Given the description of an element on the screen output the (x, y) to click on. 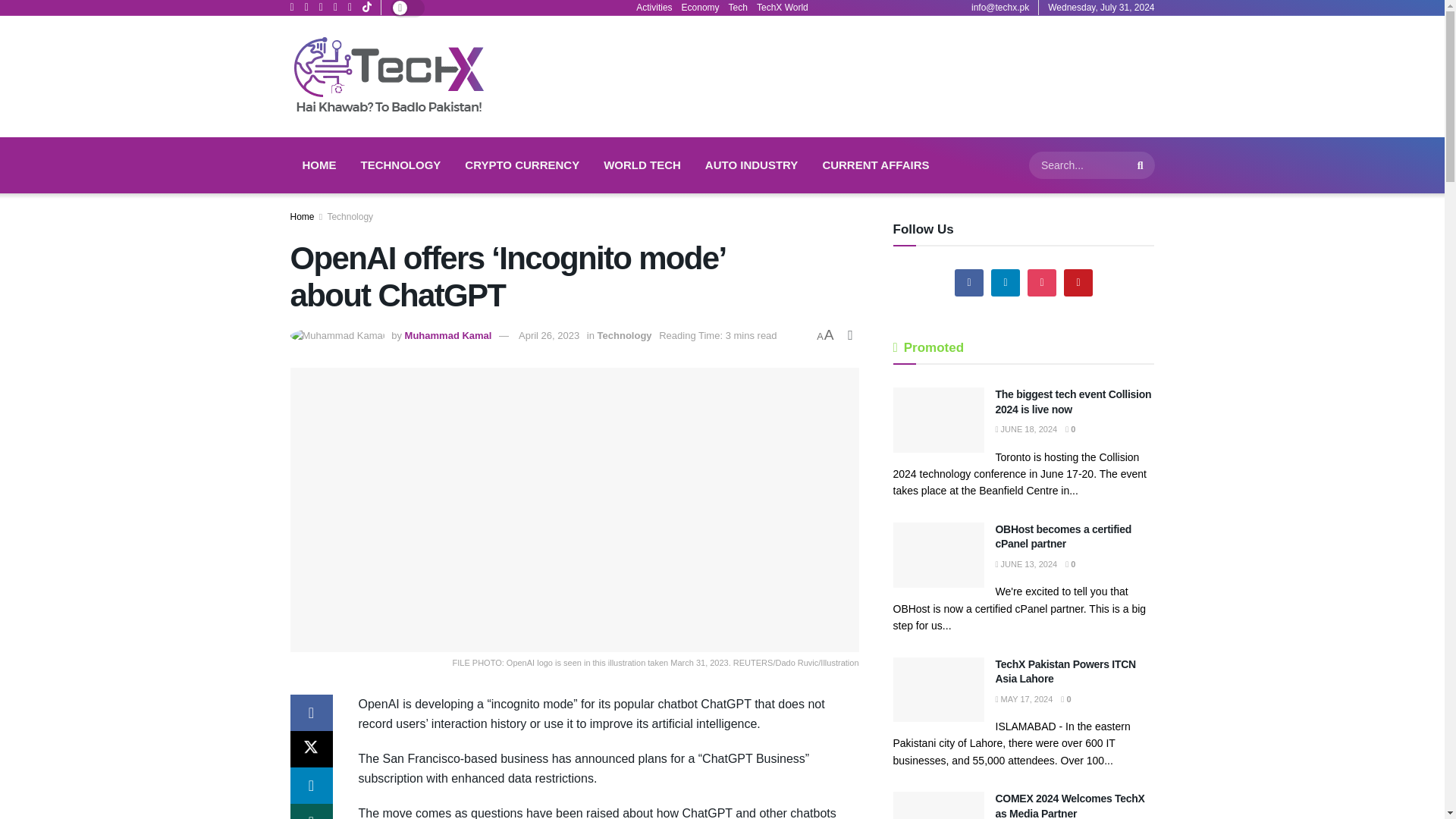
TechX World (782, 7)
CURRENT AFFAIRS (874, 165)
CRYPTO CURRENCY (521, 165)
AUTO INDUSTRY (751, 165)
TECHNOLOGY (400, 165)
WORLD TECH (642, 165)
HOME (318, 165)
Activities (653, 7)
Economy (700, 7)
Tech (738, 7)
